Given the description of an element on the screen output the (x, y) to click on. 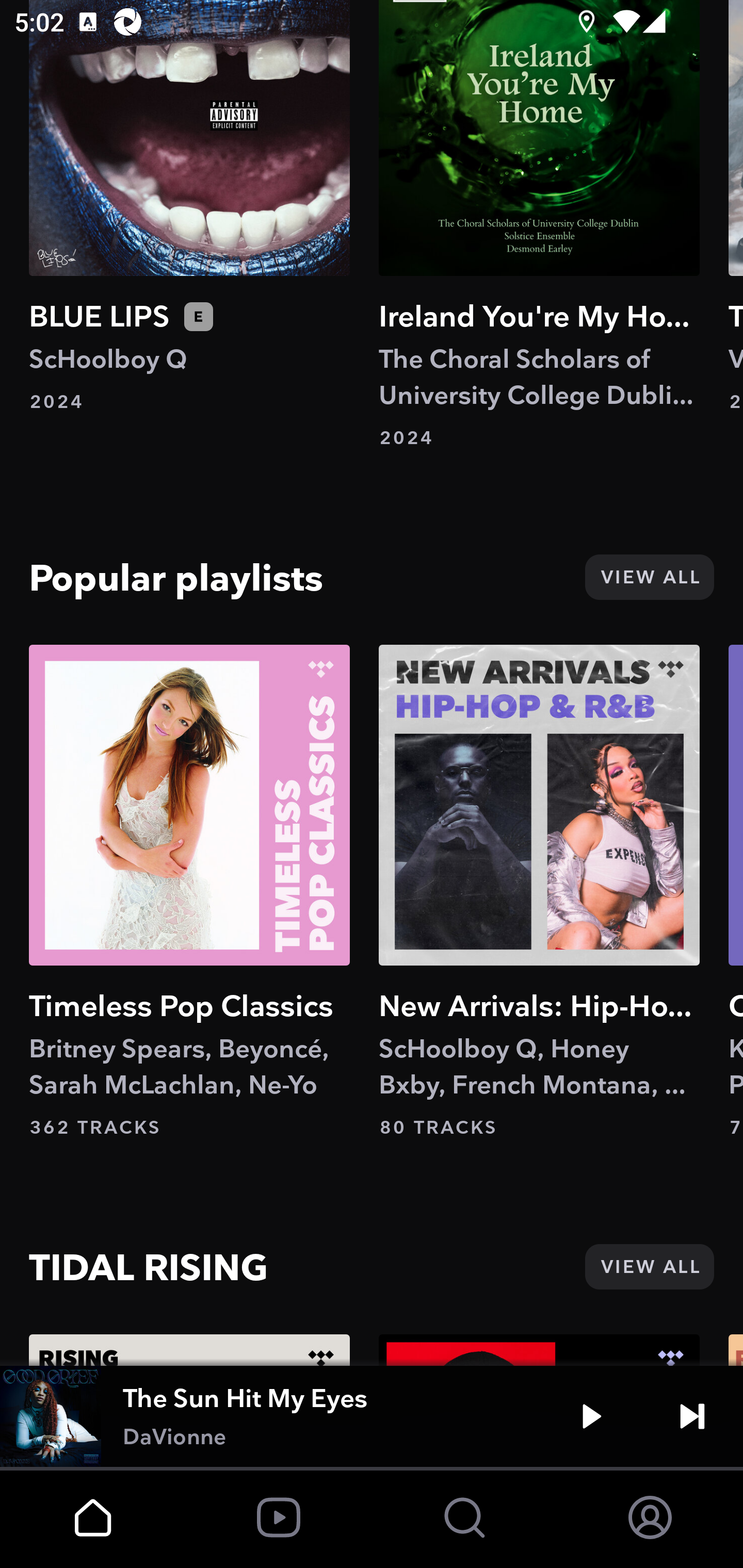
BLUE LIPS ScHoolboy Q 2024 (188, 206)
VIEW ALL (649, 577)
VIEW ALL (649, 1265)
The Sun Hit My Eyes DaVionne Play (371, 1416)
Play (590, 1416)
